Given the description of an element on the screen output the (x, y) to click on. 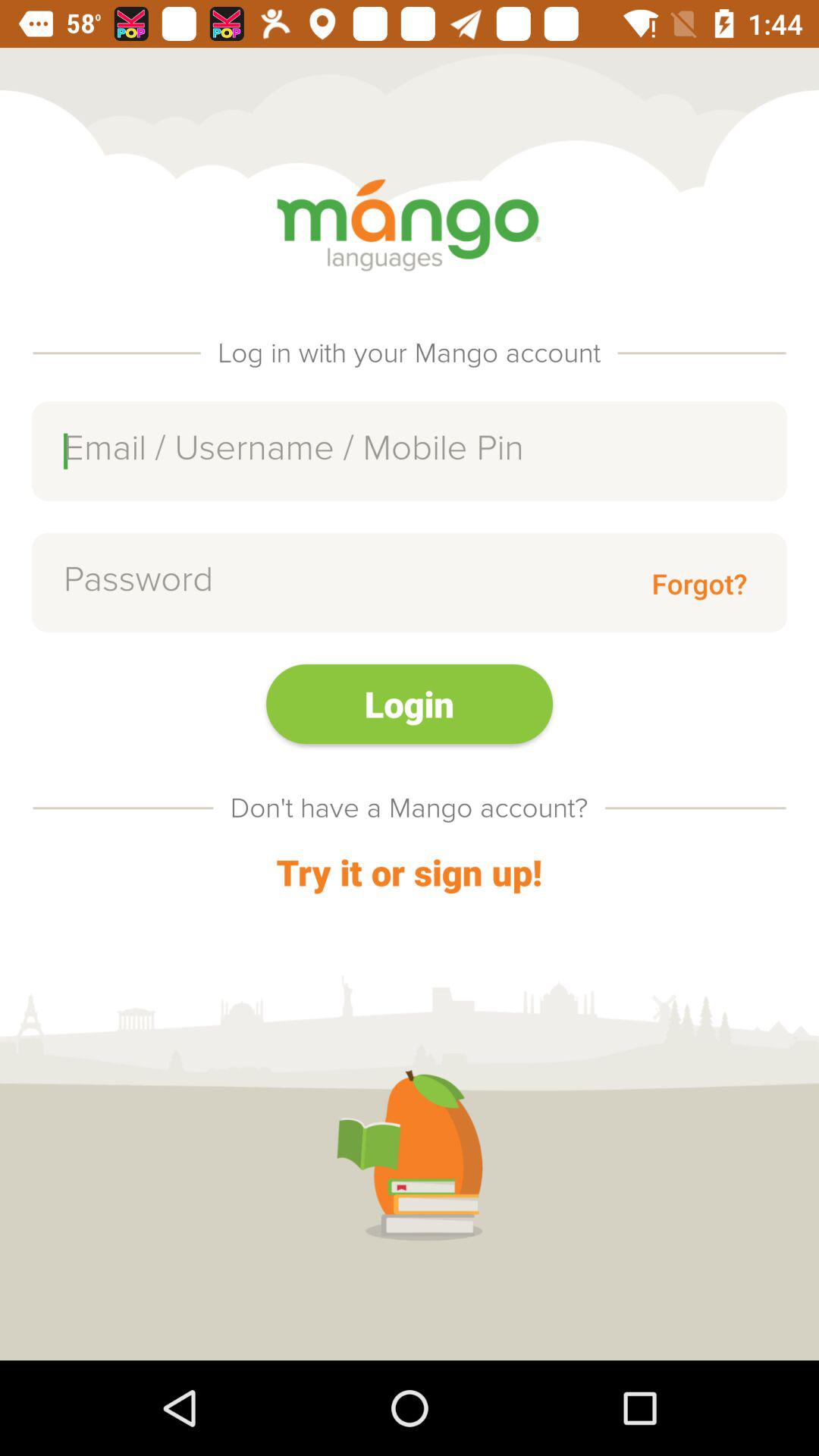
scroll until try it or icon (409, 872)
